Given the description of an element on the screen output the (x, y) to click on. 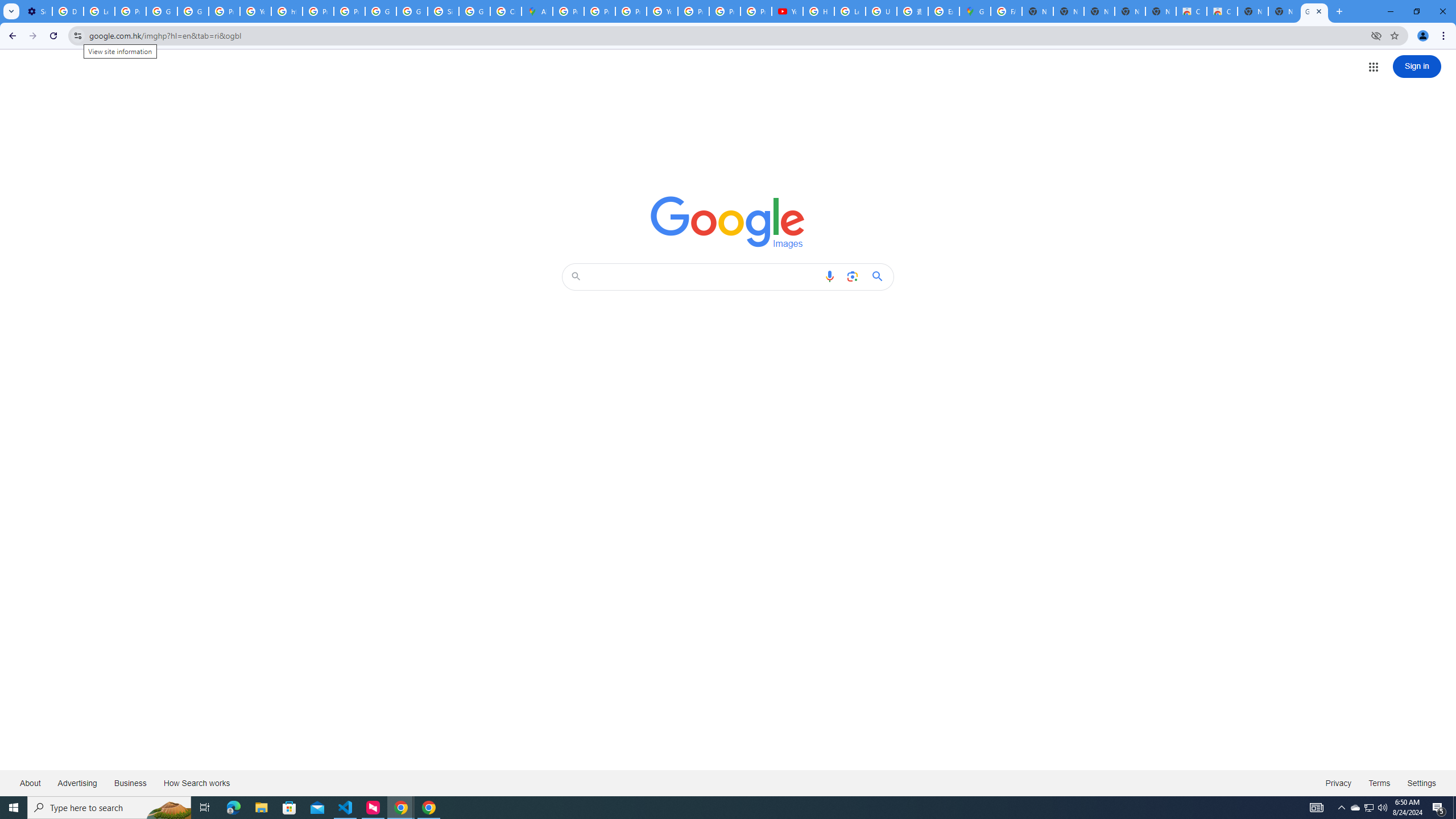
Advertising (77, 782)
Settings - On startup (36, 11)
Sign in - Google Accounts (443, 11)
New Tab (1283, 11)
Privacy Help Center - Policies Help (631, 11)
YouTube (662, 11)
Create your Google Account (505, 11)
Policy Accountability and Transparency - Transparency Center (568, 11)
Google Images (727, 222)
